Given the description of an element on the screen output the (x, y) to click on. 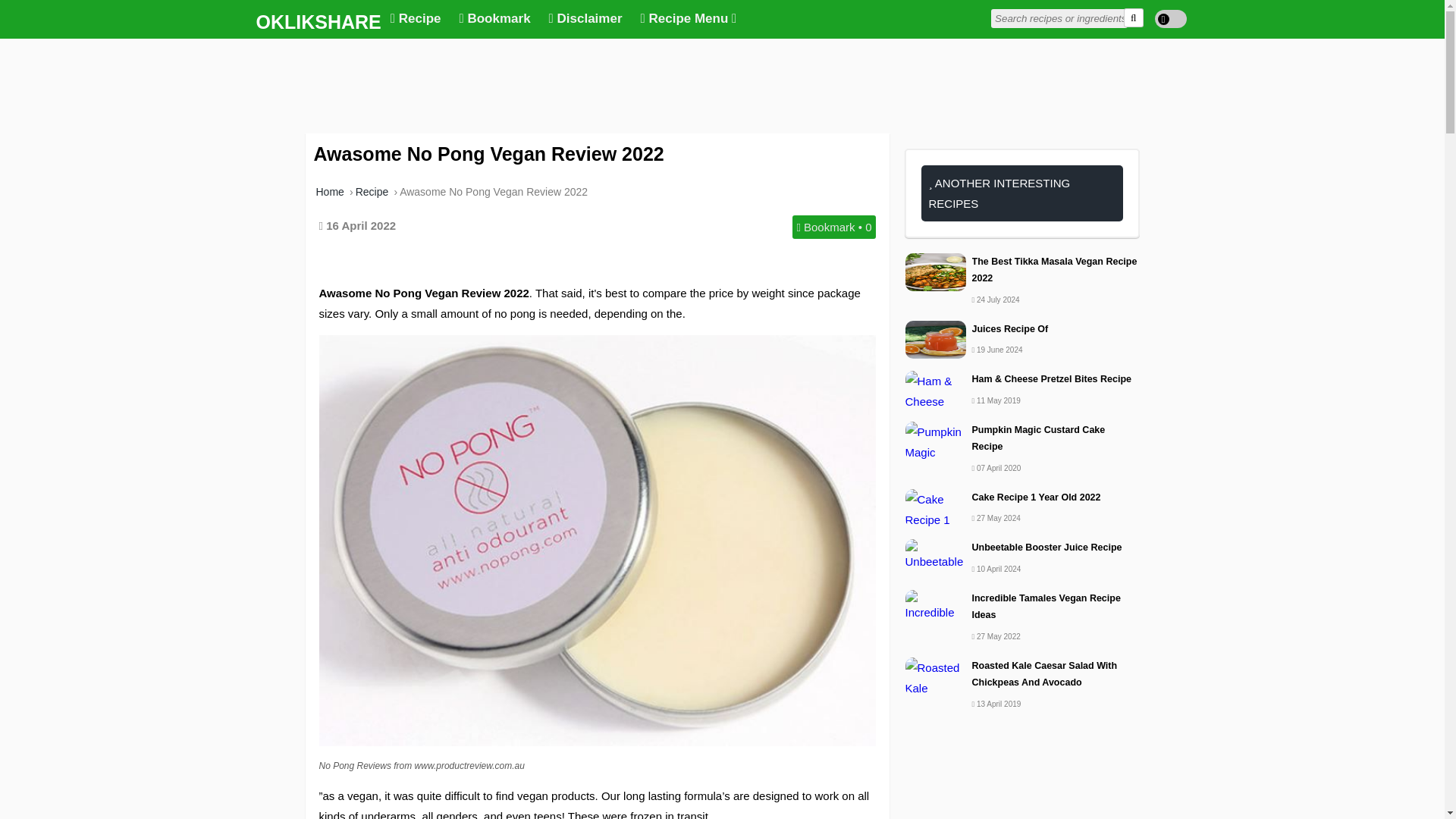
Home (329, 191)
Awasome No Pong Vegan Review 2022 (493, 191)
Pumpkin Magic Custard Cake Recipe (1021, 438)
Recipe (371, 191)
Unbeetable Booster Juice Recipe (1021, 547)
OKLIKSHARE (314, 21)
Disclaimer (585, 19)
Recipe Menu (688, 19)
Roasted Kale Caesar Salad With Chickpeas And Avocado (1021, 674)
Bookmark (494, 19)
Juices Recipe Of (1021, 329)
Incredible Tamales Vegan Recipe Ideas (1021, 606)
The Best Tikka Masala Vegan Recipe 2022 (1021, 270)
Cake Recipe 1 Year Old 2022 (1021, 497)
Recipe (415, 19)
